Given the description of an element on the screen output the (x, y) to click on. 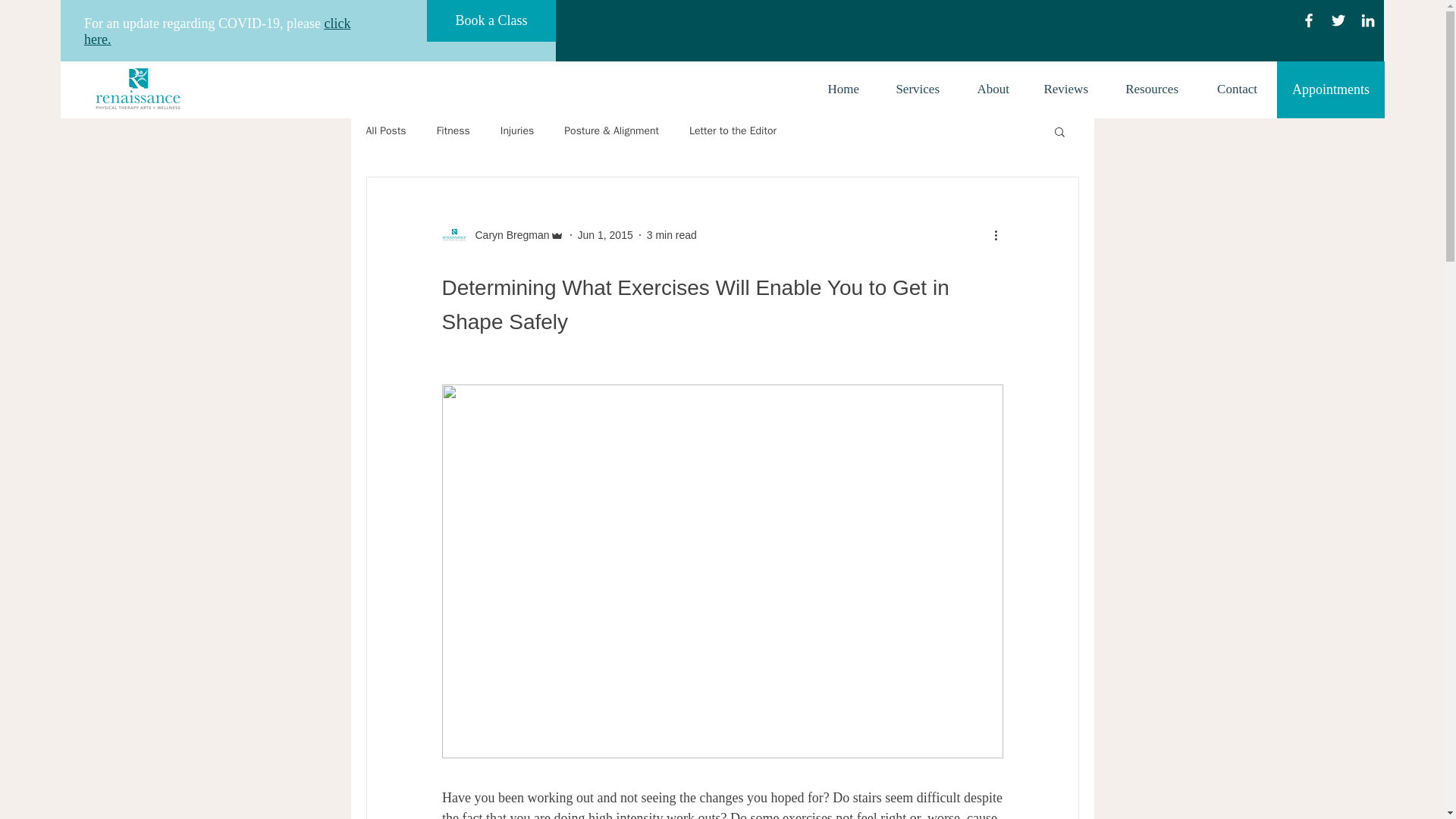
Caryn Bregman (502, 234)
Jun 1, 2015 (605, 234)
click here. (217, 30)
Book a Class (491, 20)
About (985, 89)
Fitness (453, 131)
Contact (1228, 89)
Letter to the Editor (732, 131)
All Posts (385, 131)
Injuries (517, 131)
3 min read (671, 234)
Caryn Bregman (506, 235)
Reviews (1059, 89)
Appointments (1330, 89)
Home (836, 89)
